Given the description of an element on the screen output the (x, y) to click on. 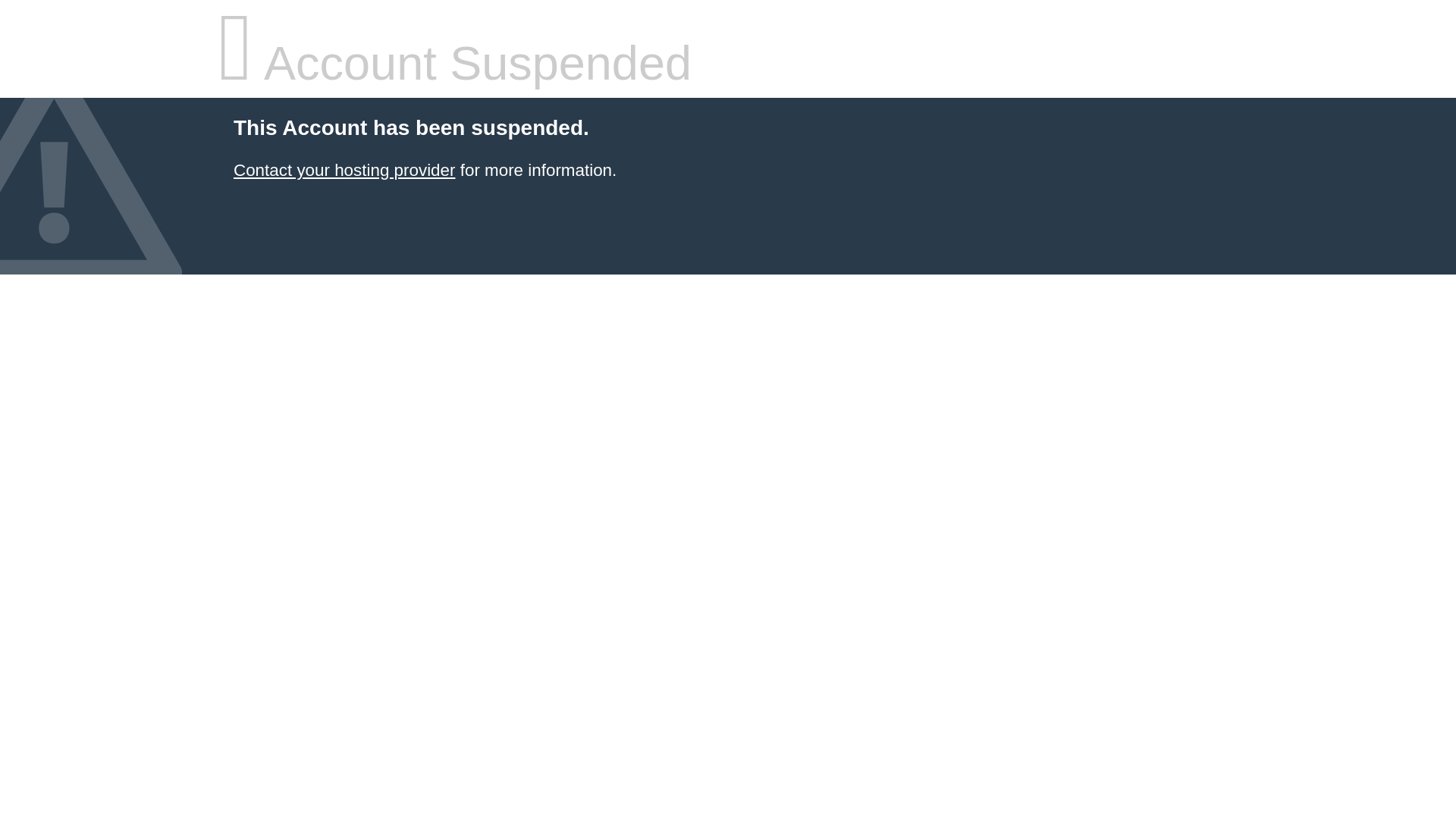
Contact your hosting provider (343, 169)
